Given the description of an element on the screen output the (x, y) to click on. 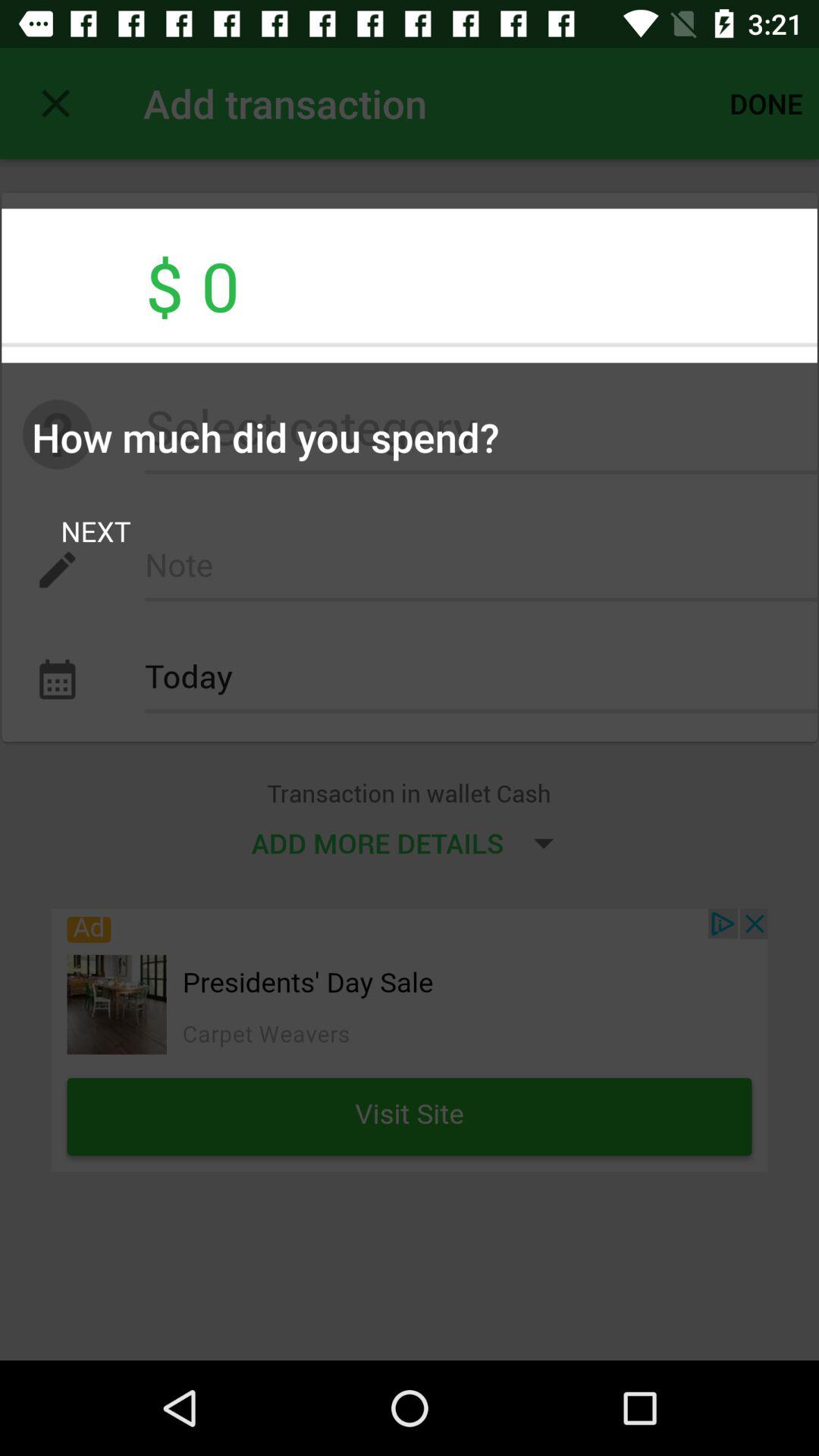
view advertisement (409, 1039)
